Given the description of an element on the screen output the (x, y) to click on. 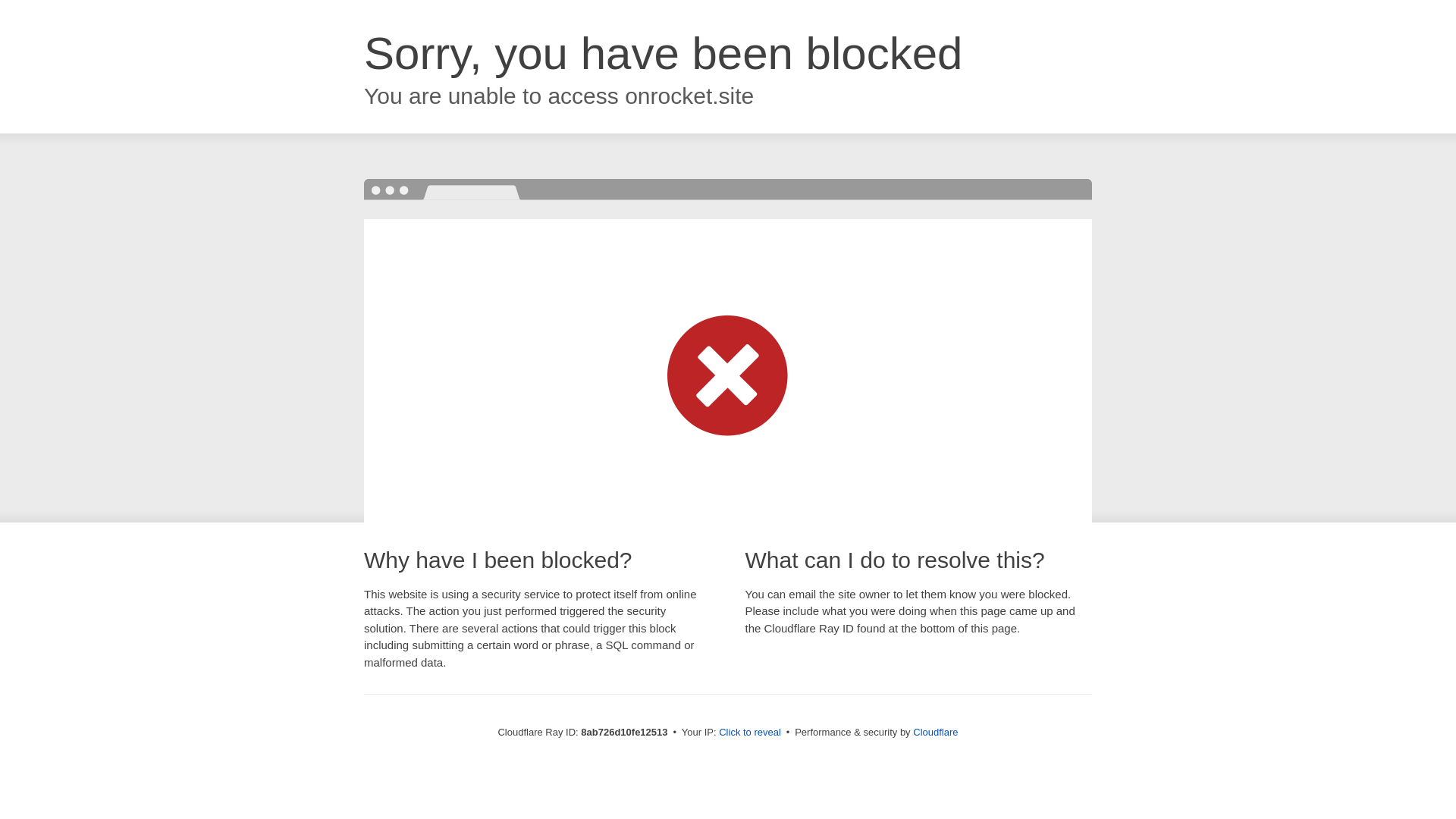
Click to reveal (749, 732)
Cloudflare (935, 731)
